Given the description of an element on the screen output the (x, y) to click on. 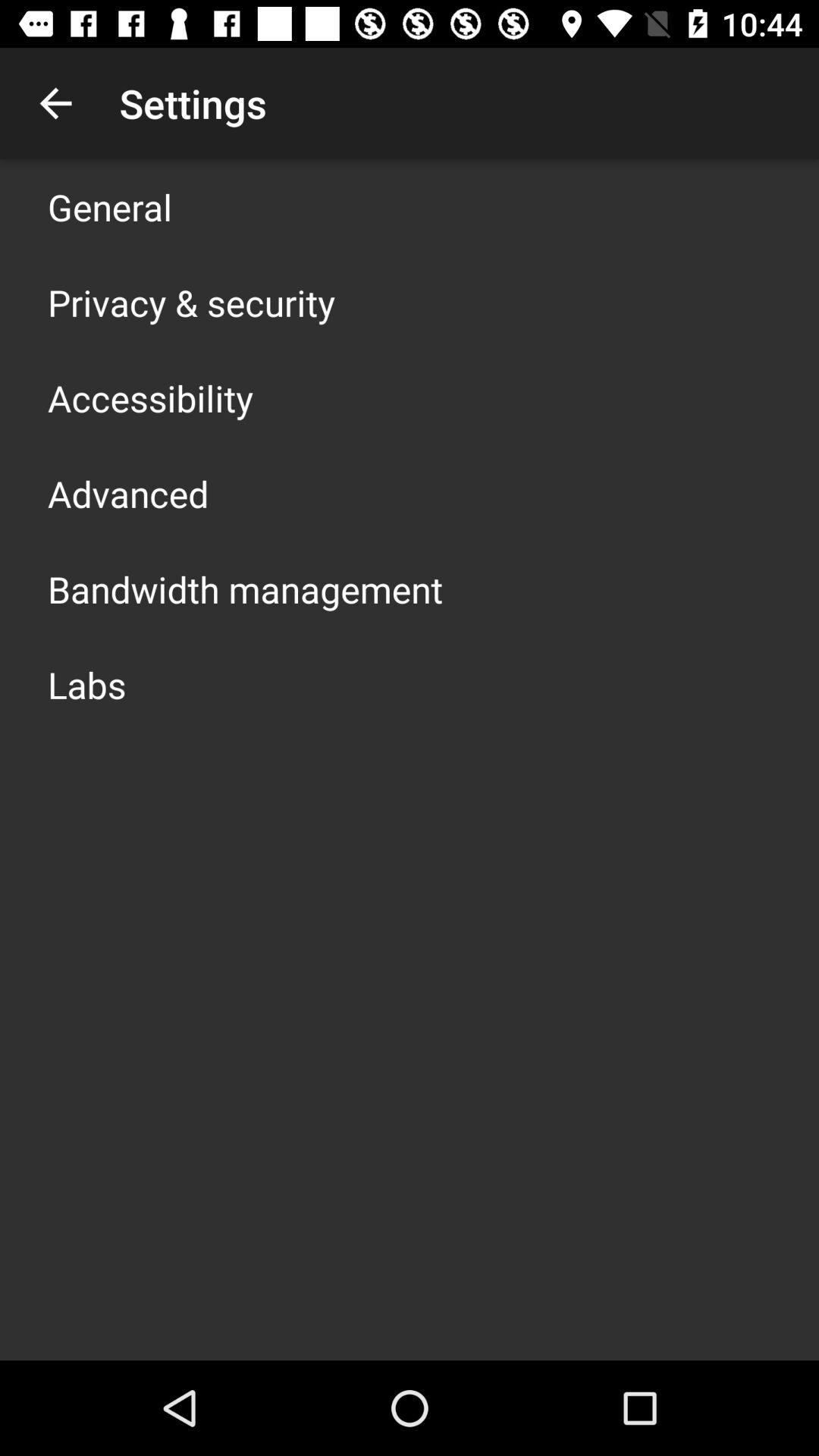
launch app to the left of settings (55, 103)
